Given the description of an element on the screen output the (x, y) to click on. 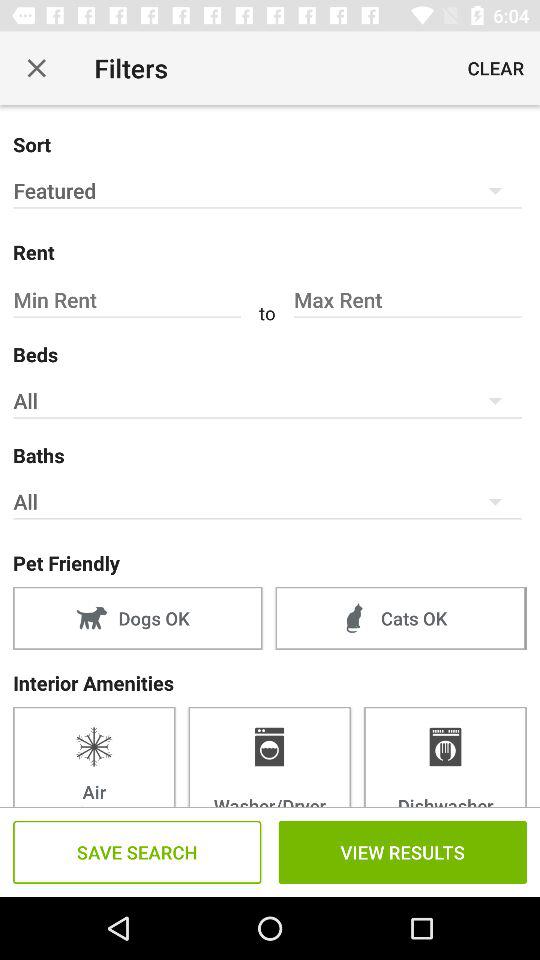
click the icon next to dishwasher icon (269, 756)
